Given the description of an element on the screen output the (x, y) to click on. 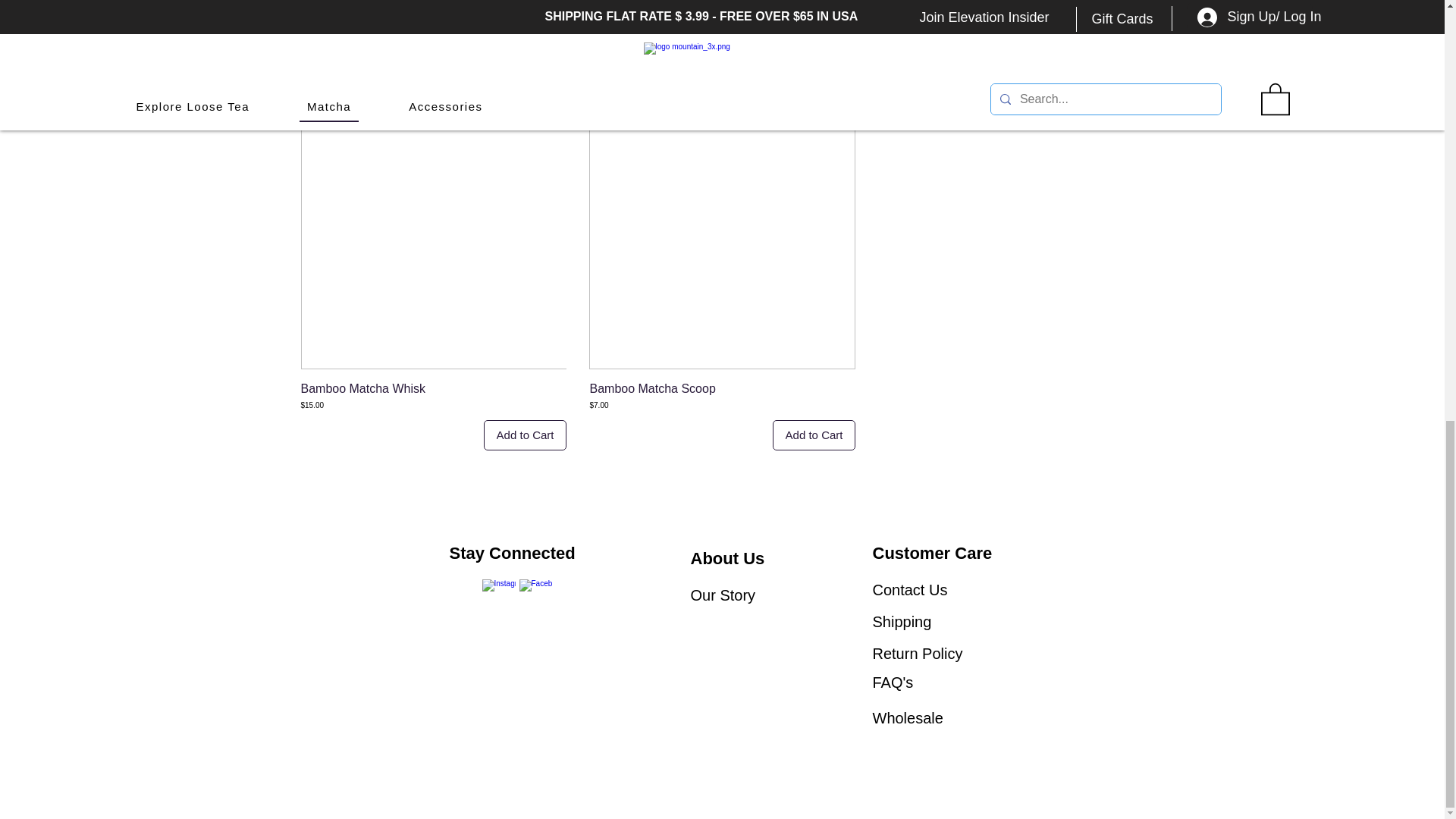
Add to Cart (1102, 71)
Add to Cart (525, 435)
Add to Cart (814, 435)
Contact Us (909, 589)
Add to Cart (814, 71)
Add to Cart (525, 71)
